Given the description of an element on the screen output the (x, y) to click on. 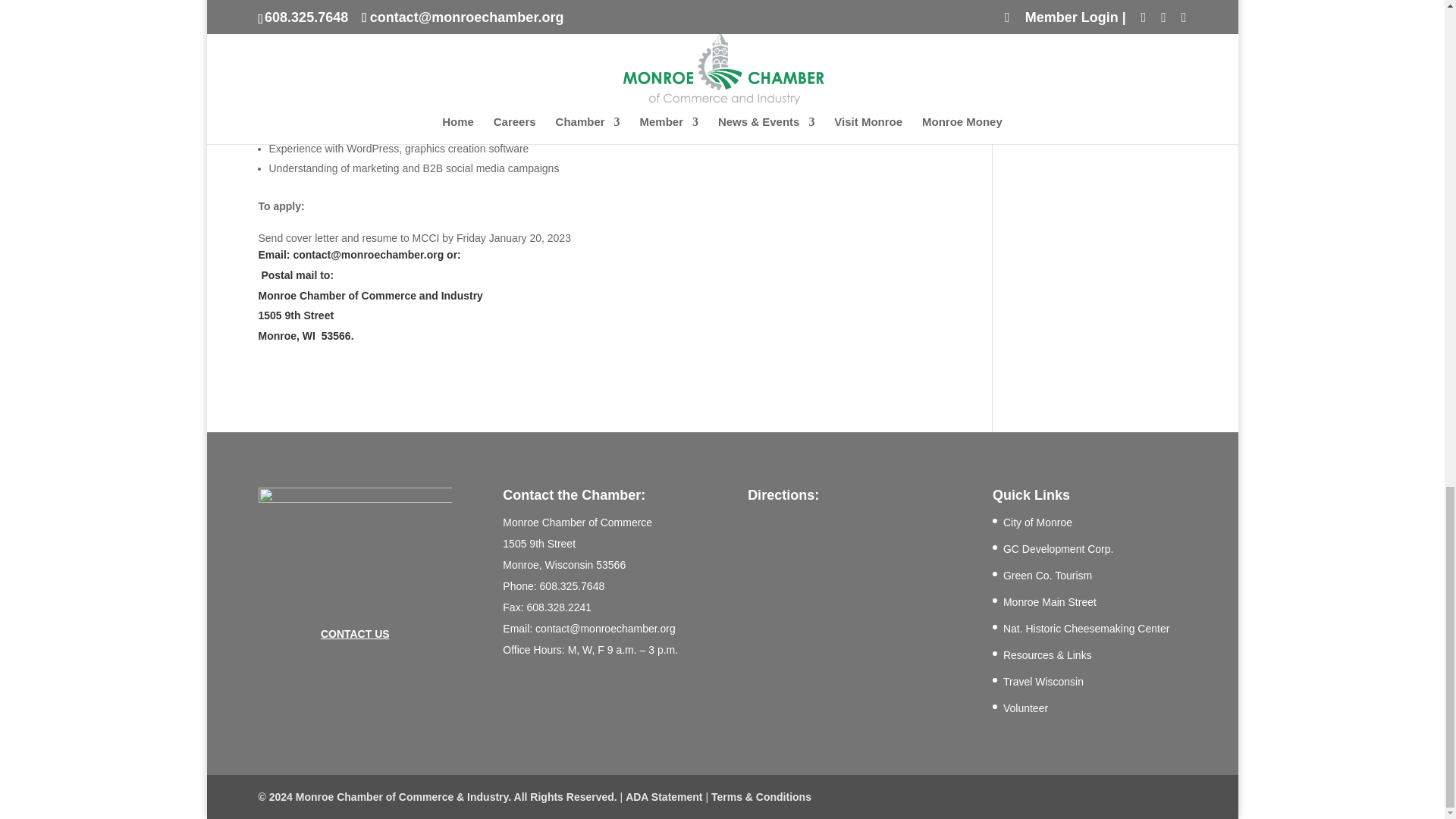
Monroe Main Street (1049, 602)
CONTACT US (355, 633)
Nat. Historic Cheesemaking Center (1086, 628)
City of Monroe (1037, 522)
Travel Wisconsin (1043, 681)
Green Co. Tourism (1047, 575)
GC Development Corp. (1058, 548)
